Given the description of an element on the screen output the (x, y) to click on. 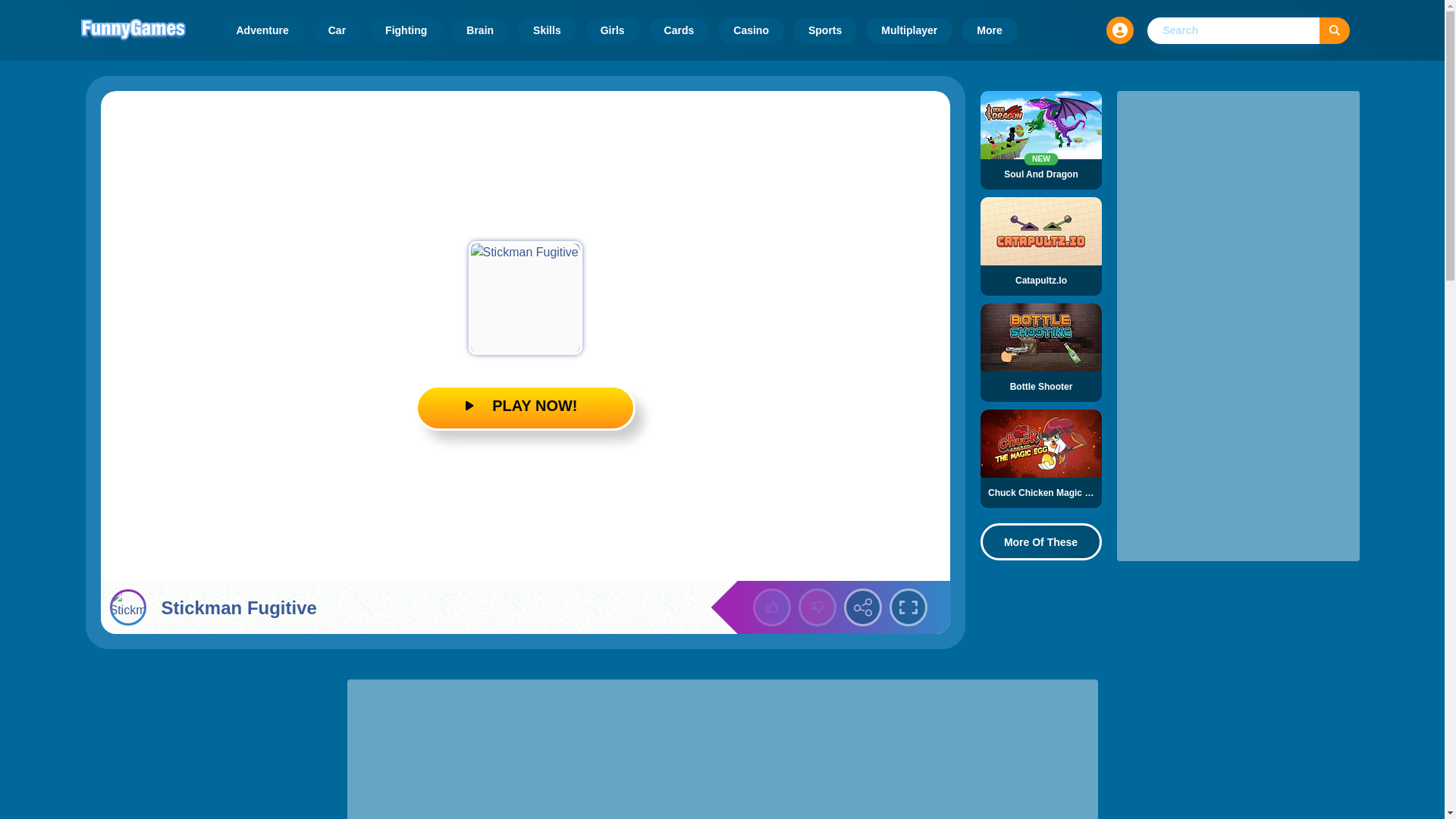
Car (337, 29)
Adventure (262, 29)
FunnyGames.org (132, 30)
Adventure (262, 29)
